Given the description of an element on the screen output the (x, y) to click on. 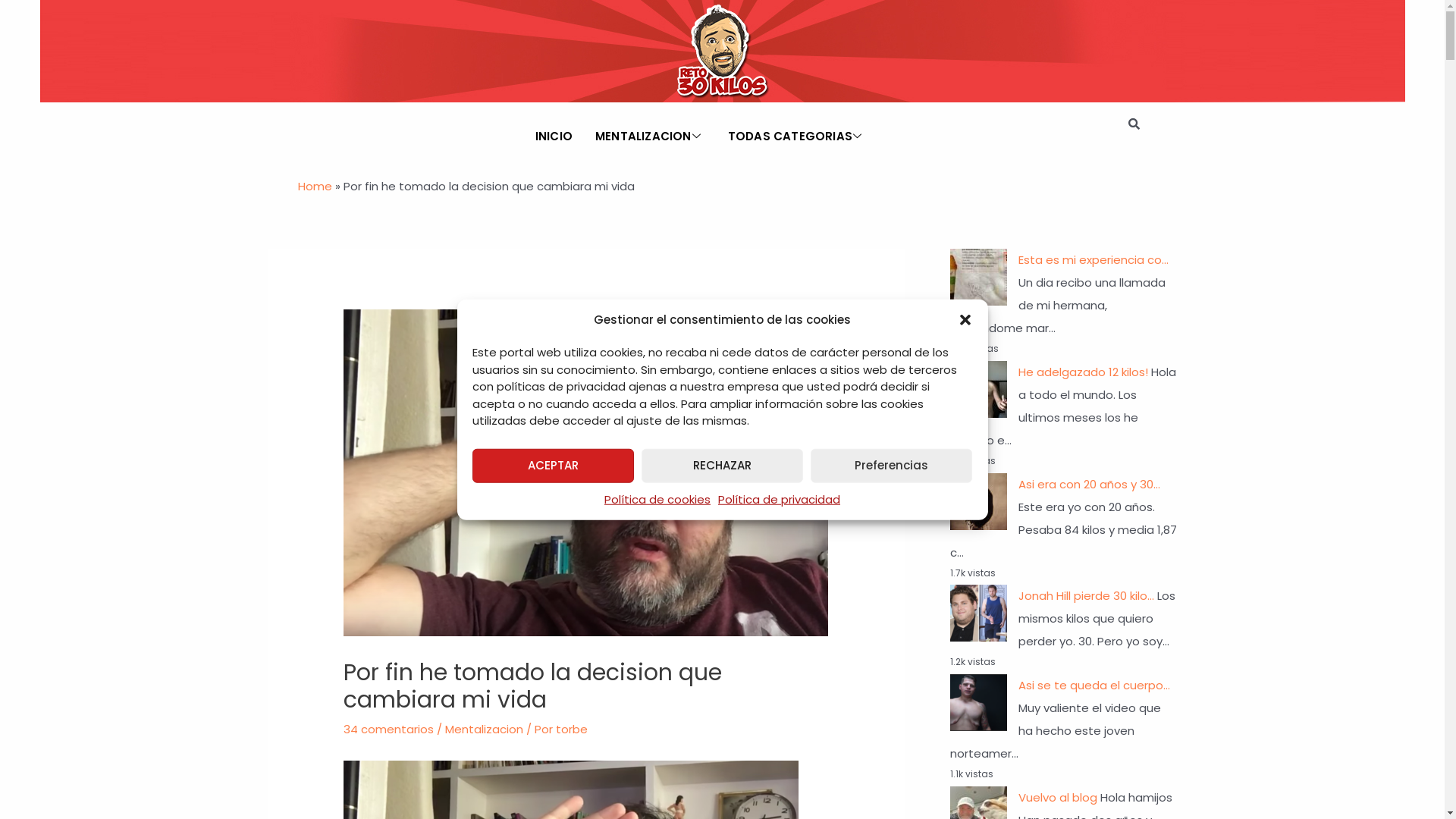
Esta es mi experiencia co... Element type: text (1092, 259)
34 comentarios Element type: text (388, 729)
TODAS CATEGORIAS Element type: text (796, 135)
Preferencias Element type: text (891, 465)
Jonah Hill pierde 30 kilo... Element type: text (1085, 595)
Vuelvo al blog Element type: text (1056, 797)
RECHAZAR Element type: text (722, 465)
torbe Element type: text (571, 729)
He adelgazado 12 kilos! Element type: text (1082, 371)
Mentalizacion Element type: text (484, 729)
ACEPTAR Element type: text (552, 465)
Home Element type: text (314, 186)
Asi se te queda el cuerpo... Element type: text (1093, 685)
INICIO Element type: text (553, 135)
Buscar Element type: hover (1130, 123)
MENTALIZACION Element type: text (649, 135)
